Given the description of an element on the screen output the (x, y) to click on. 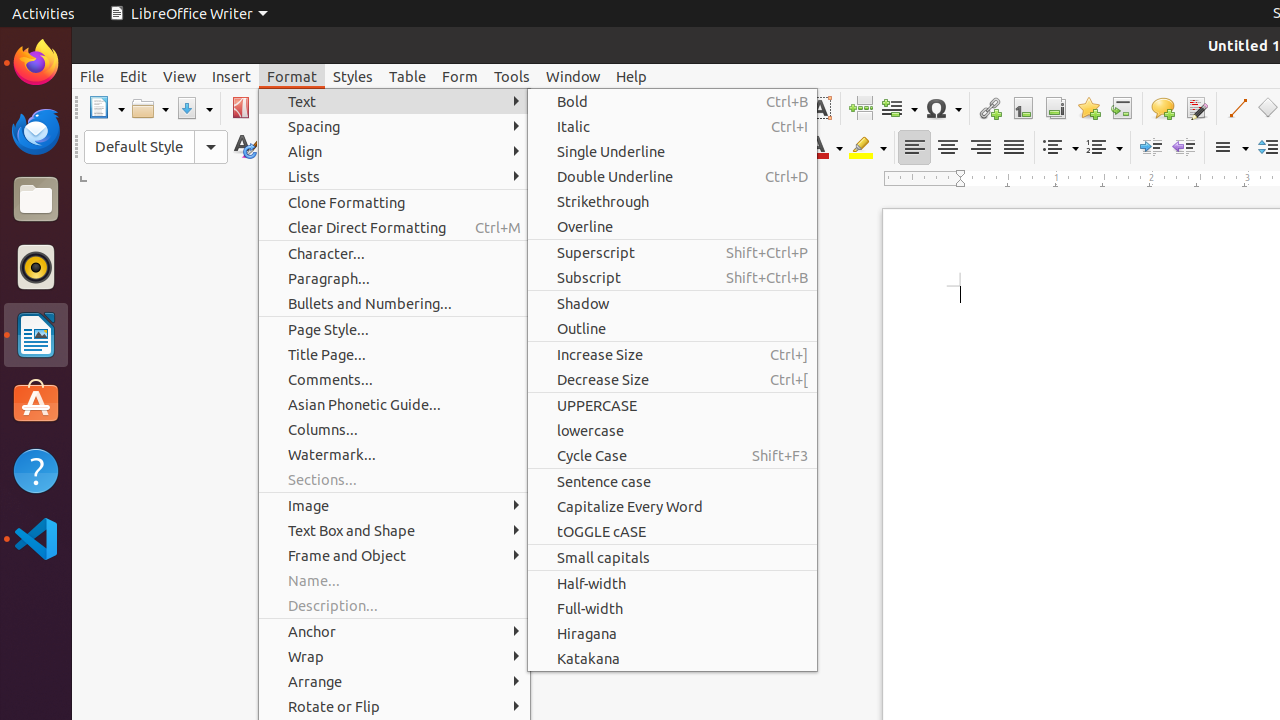
Insert Element type: menu (231, 76)
Text Element type: menu (394, 101)
UPPERCASE Element type: menu-item (672, 405)
Page Style... Element type: menu-item (394, 329)
Bold Element type: toggle-button (563, 147)
